Given the description of an element on the screen output the (x, y) to click on. 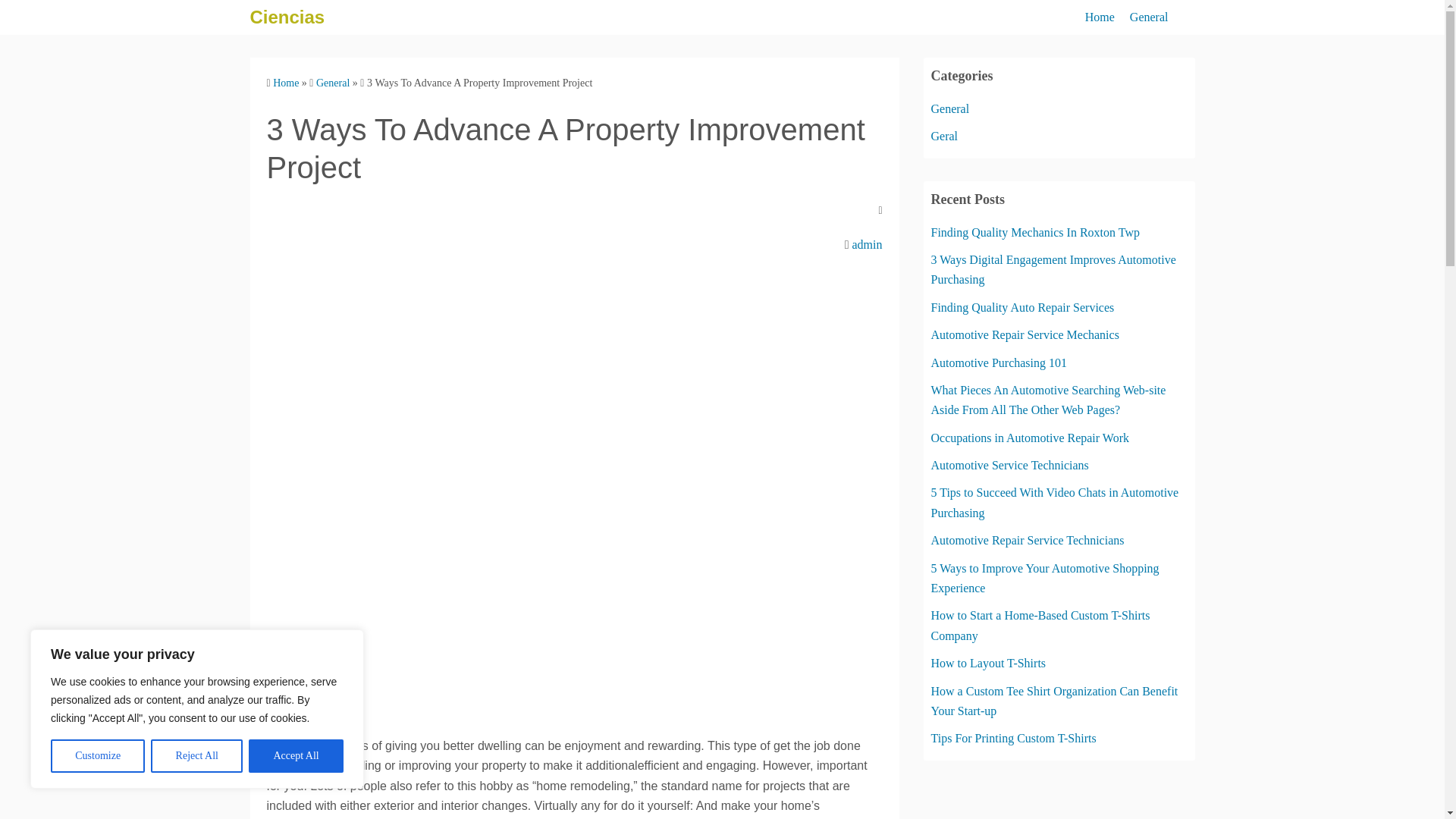
General (332, 82)
Finding Quality Mechanics In Roxton Twp (1035, 232)
Customize (97, 756)
Geral (944, 135)
admin (866, 244)
General (1149, 17)
Ciencias (287, 16)
Accept All (295, 756)
General (950, 108)
Reject All (197, 756)
